Given the description of an element on the screen output the (x, y) to click on. 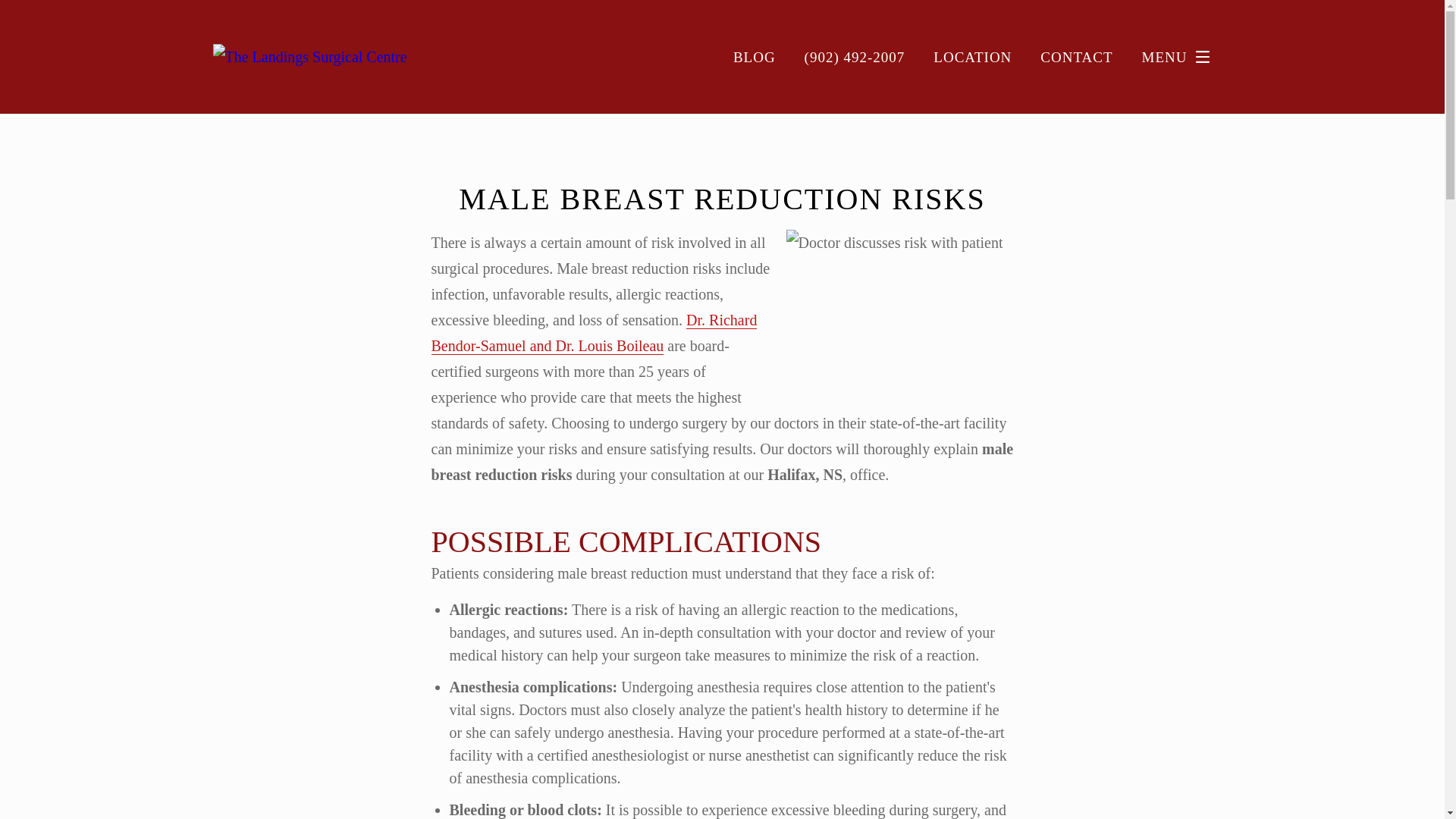
Dr. Richard Bendor-Samuel and Dr. Louis Boileau (593, 333)
